Given the description of an element on the screen output the (x, y) to click on. 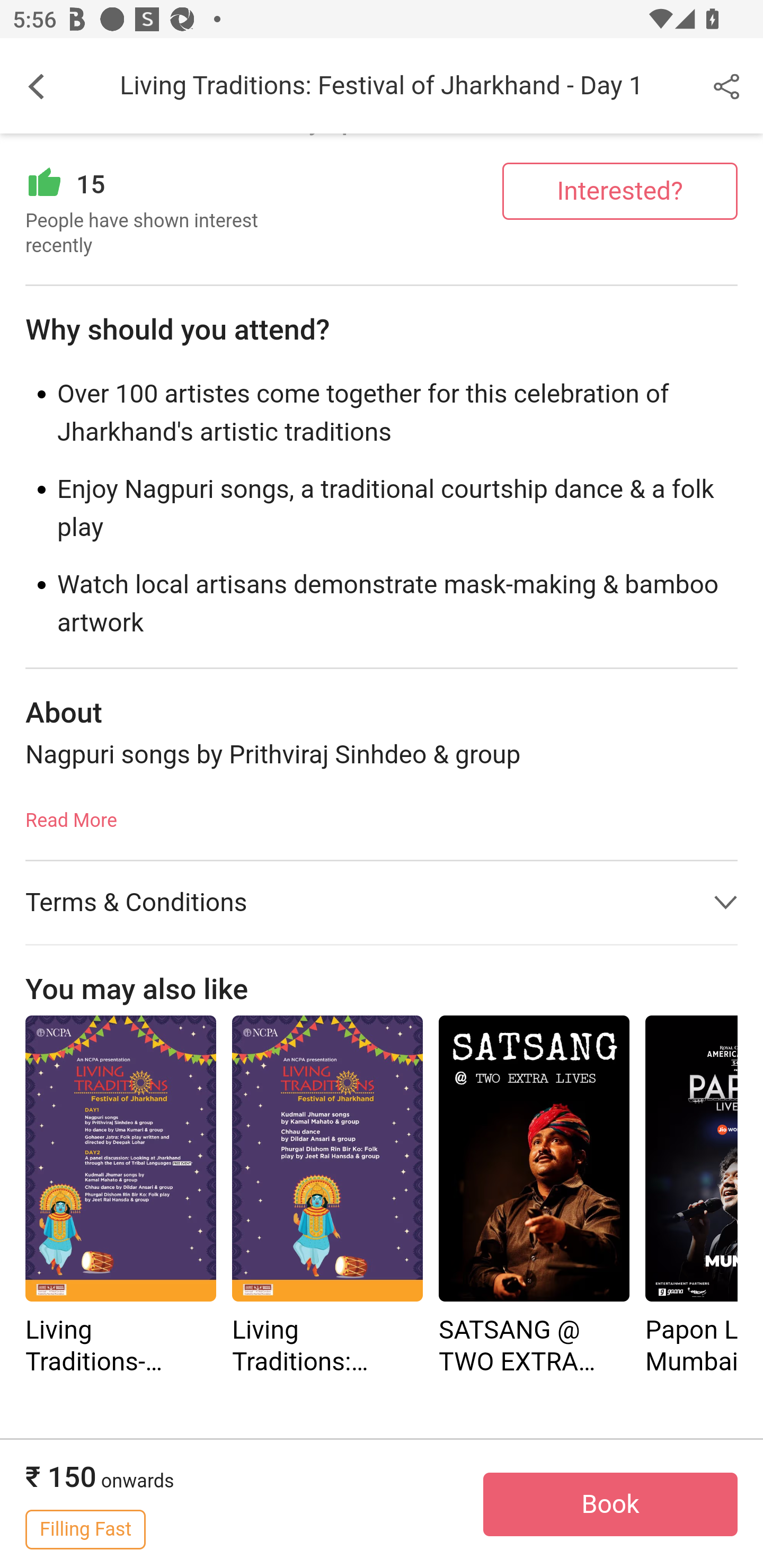
Interested? (619, 191)
Read More (71, 815)
Terms & Conditions (381, 902)
Living Traditions- Festival of Jharkhand (120, 1197)
Living Traditions- Festival of Jharkhand (120, 1159)
Living Traditions: Festival of Jharkhand - Day 2 (326, 1197)
Living Traditions: Festival of Jharkhand - Day 2 (326, 1159)
SATSANG @ TWO EXTRA LIVES (533, 1197)
SATSANG @ TWO EXTRA LIVES (533, 1159)
Book (609, 1505)
